Given the description of an element on the screen output the (x, y) to click on. 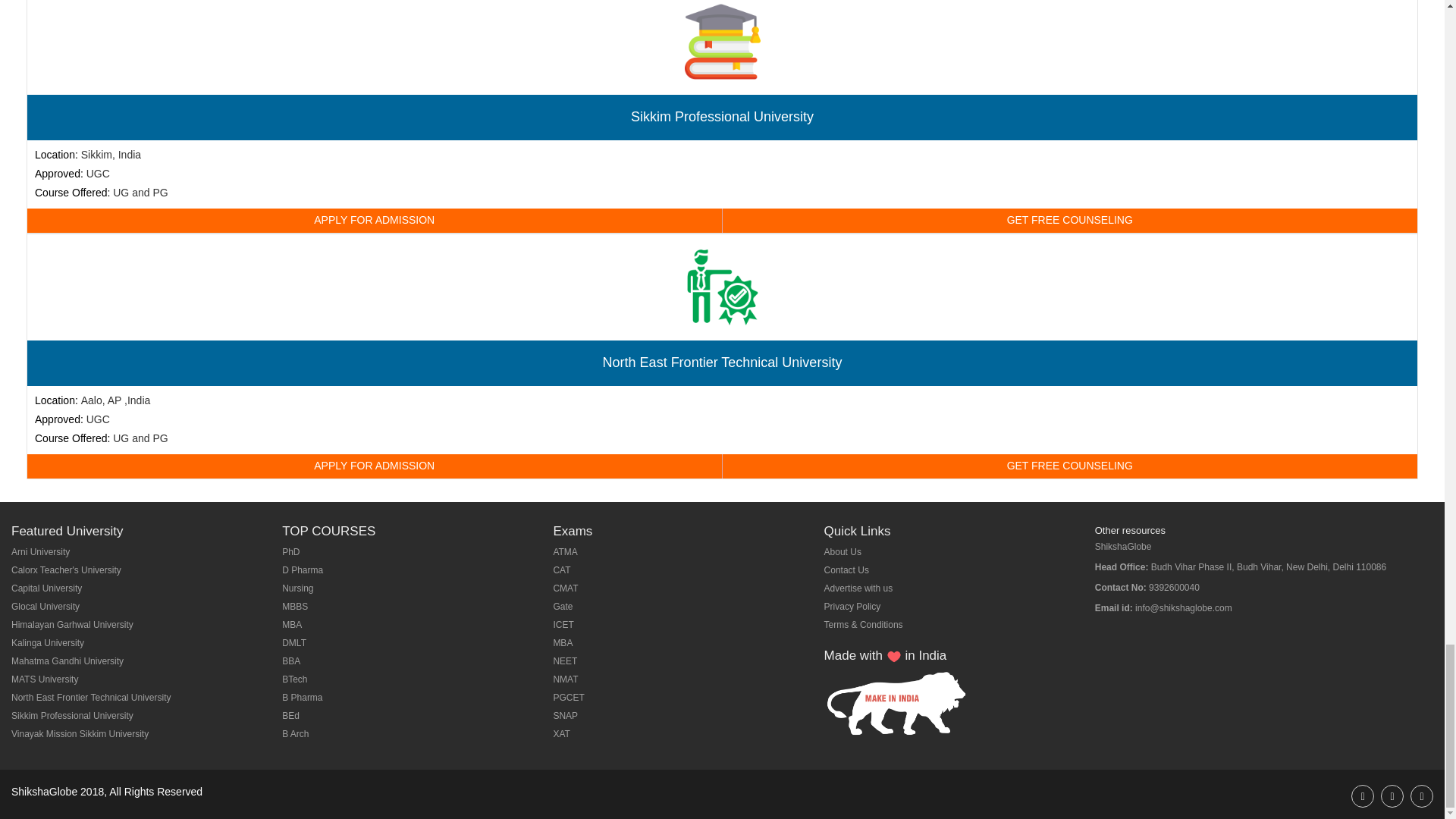
APPLY FOR ADMISSION (374, 466)
APPLY FOR ADMISSION (374, 220)
GET FREE COUNSELING (1069, 466)
Calorx Teacher's University (65, 570)
GET FREE COUNSELING (1069, 220)
Arni University (40, 552)
